Given the description of an element on the screen output the (x, y) to click on. 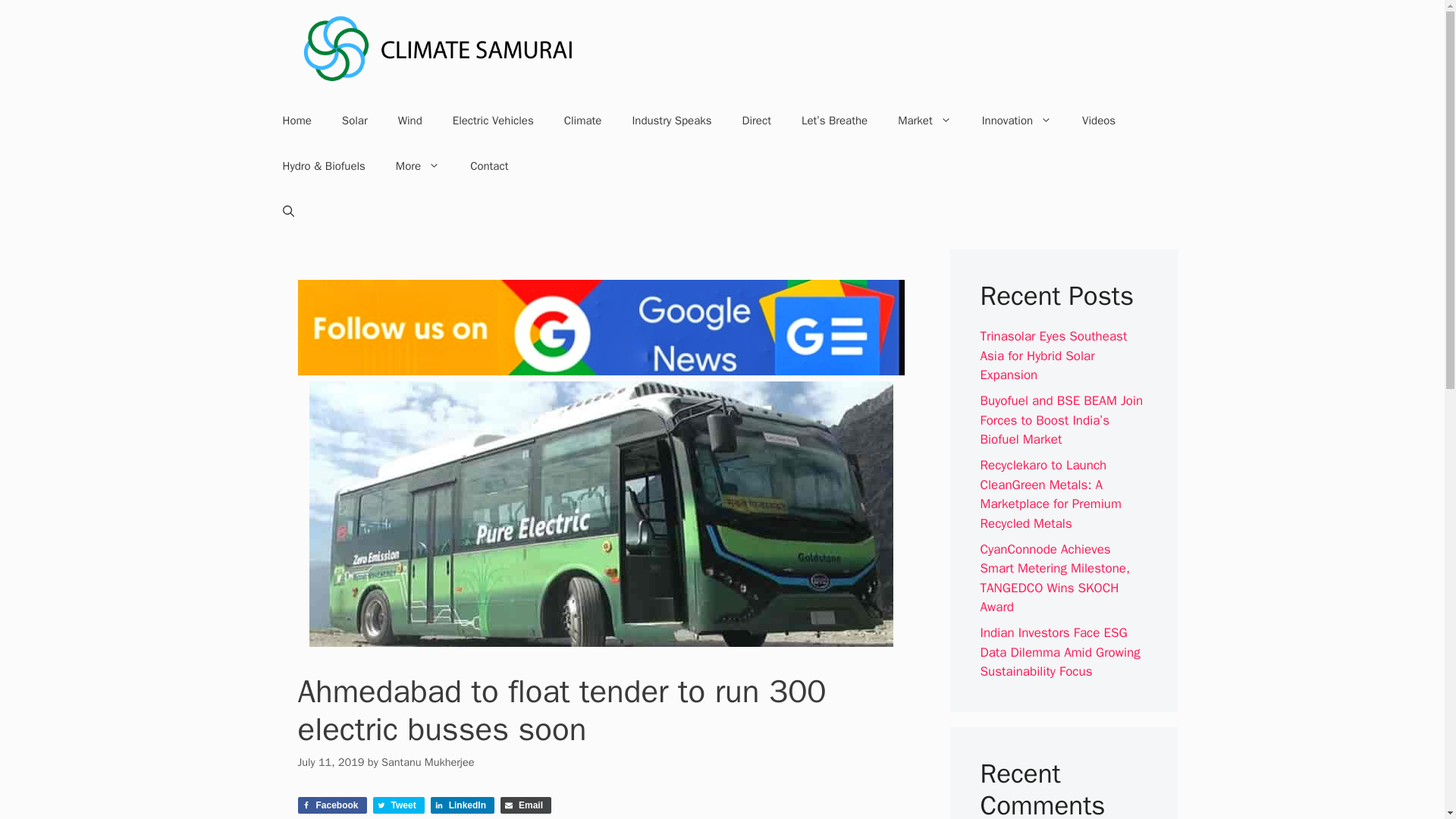
Electric Vehicles (493, 120)
Climate Samurai (438, 48)
Climate (582, 120)
Email (525, 805)
View all posts by Santanu Mukherjee (427, 762)
Direct (756, 120)
Facebook (331, 805)
Email (525, 805)
Wind (410, 120)
LinkedIn (462, 805)
